Given the description of an element on the screen output the (x, y) to click on. 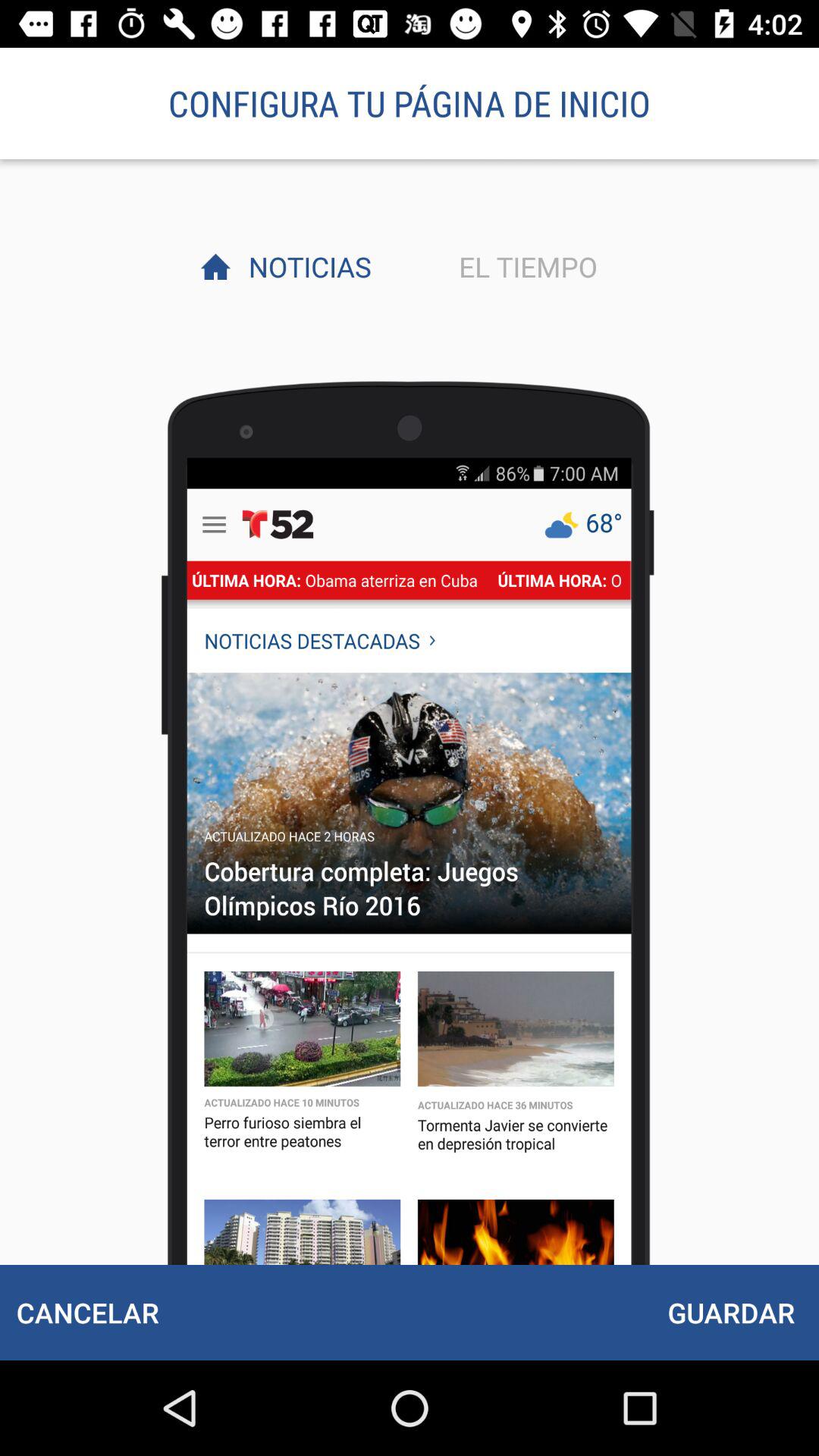
jump to the cancelar (87, 1312)
